Given the description of an element on the screen output the (x, y) to click on. 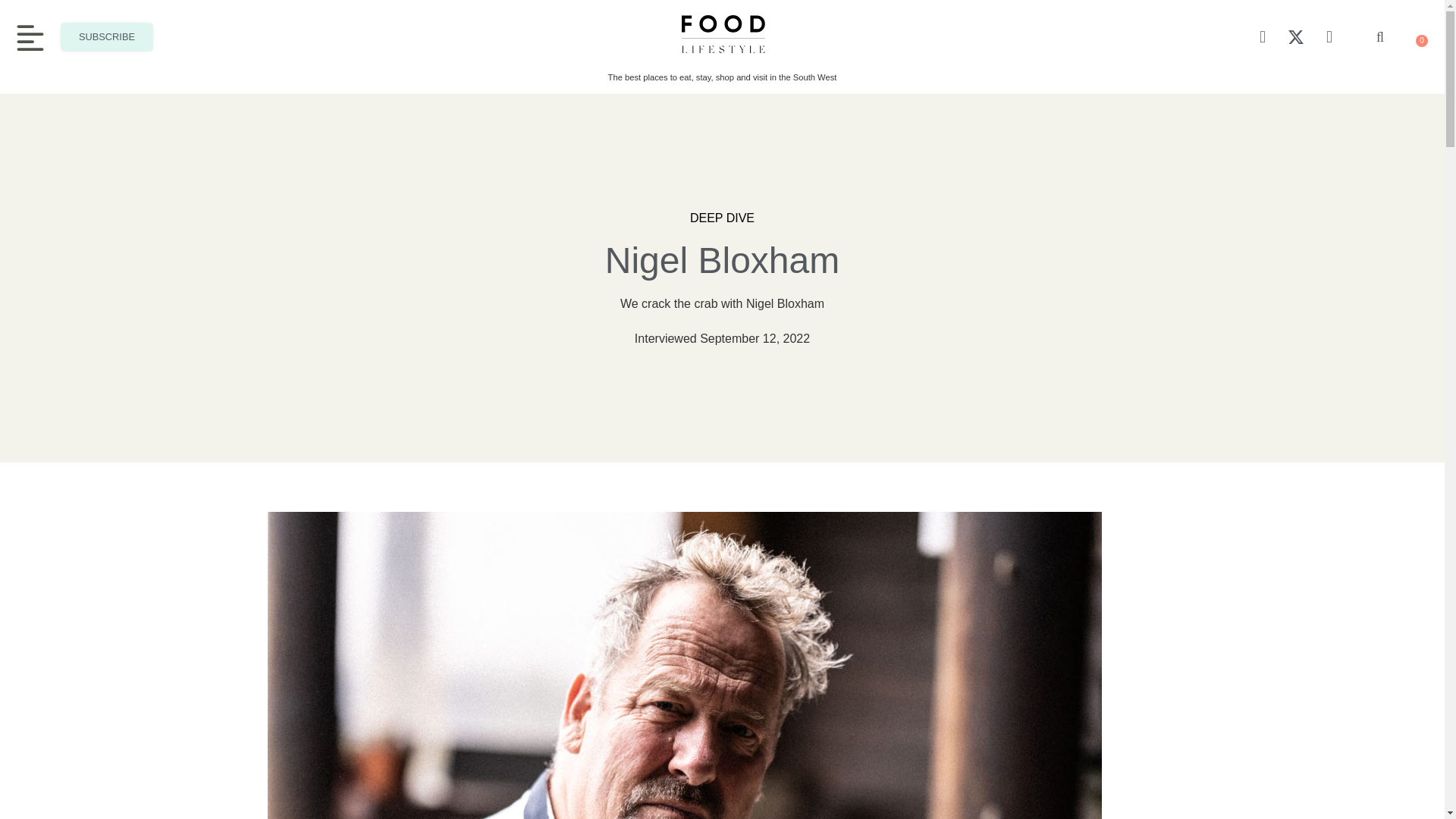
DEEP DIVE (722, 218)
SUBSCRIBE (106, 36)
